Given the description of an element on the screen output the (x, y) to click on. 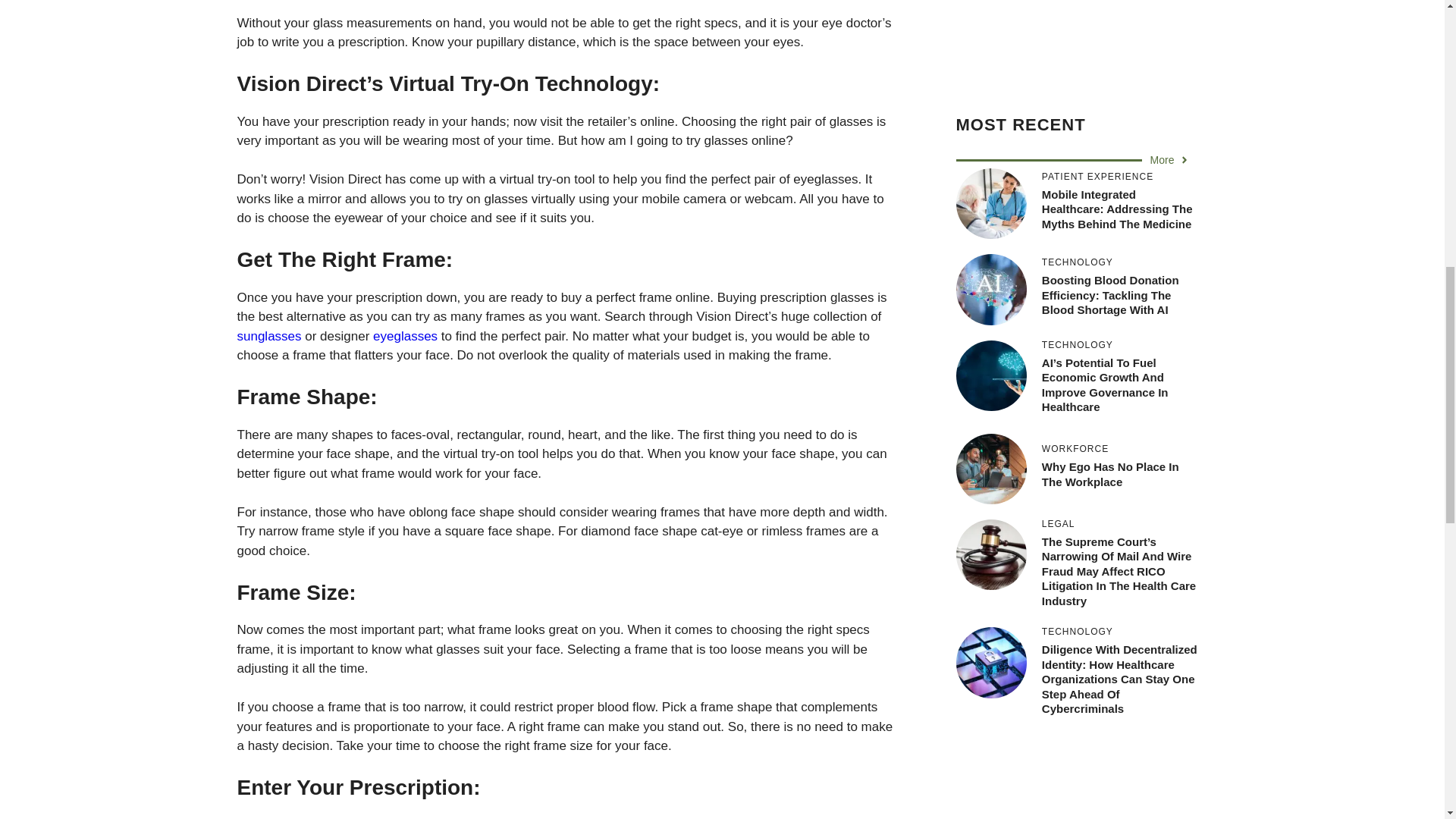
eyeglasses (405, 336)
sunglasses (268, 336)
